Given the description of an element on the screen output the (x, y) to click on. 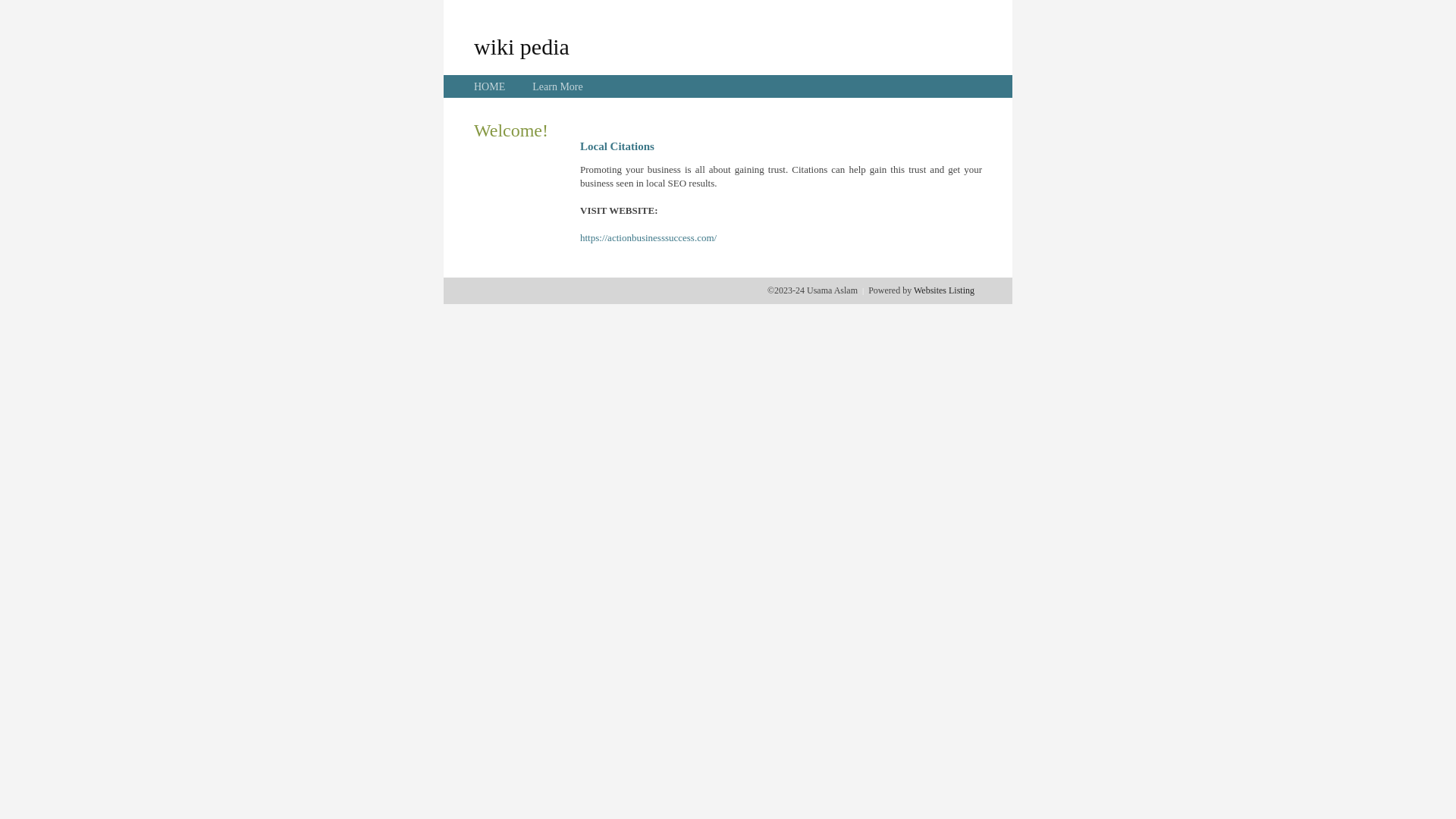
https://actionbusinesssuccess.com/ Element type: text (648, 237)
wiki pedia Element type: text (521, 46)
HOME Element type: text (489, 86)
Learn More Element type: text (557, 86)
Websites Listing Element type: text (943, 290)
